Given the description of an element on the screen output the (x, y) to click on. 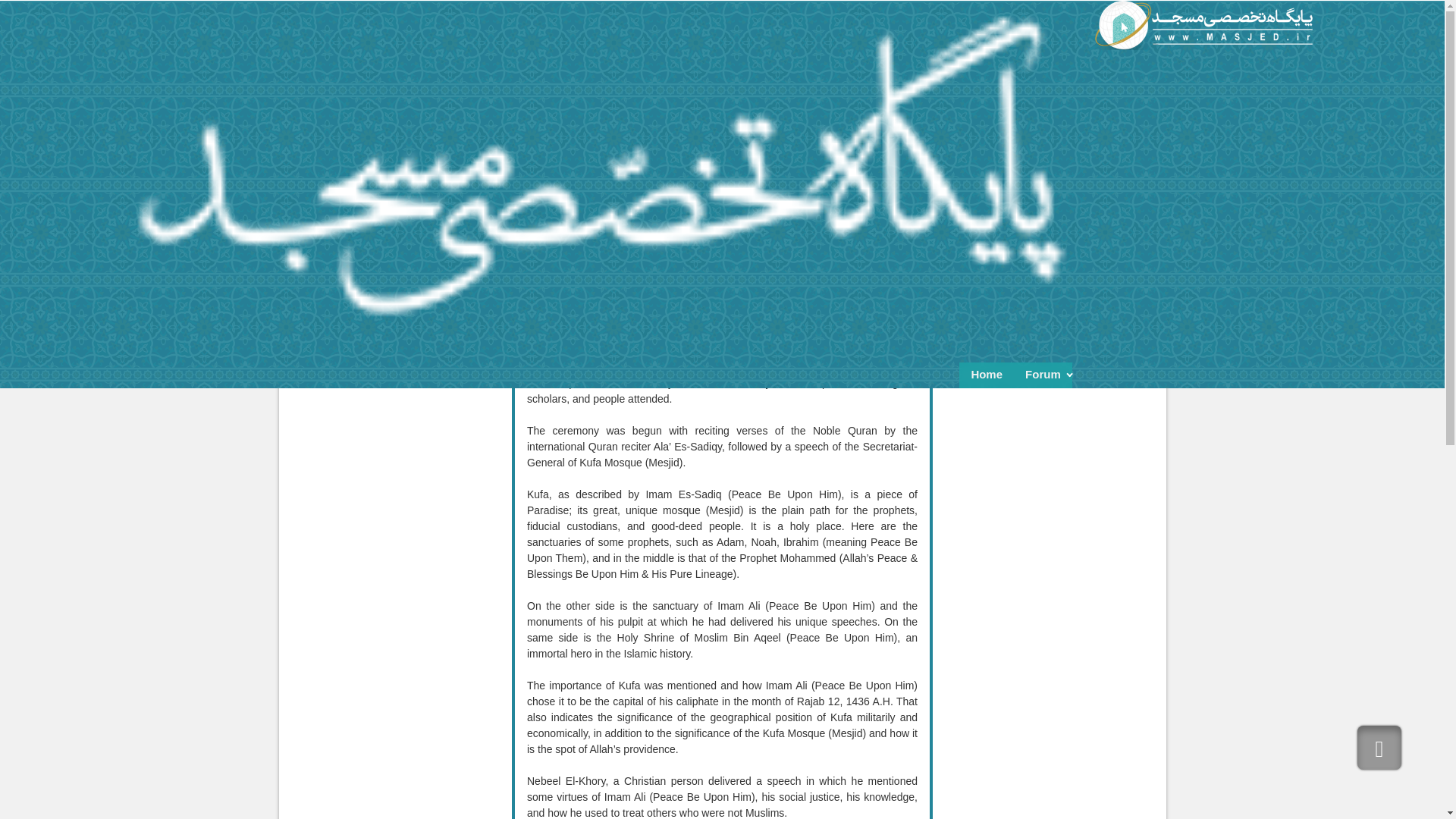
PDF Version (890, 95)
Forum (1042, 375)
Tell a Friend (871, 95)
Text Version (909, 95)
Masjed (1203, 24)
Home (986, 375)
